Given the description of an element on the screen output the (x, y) to click on. 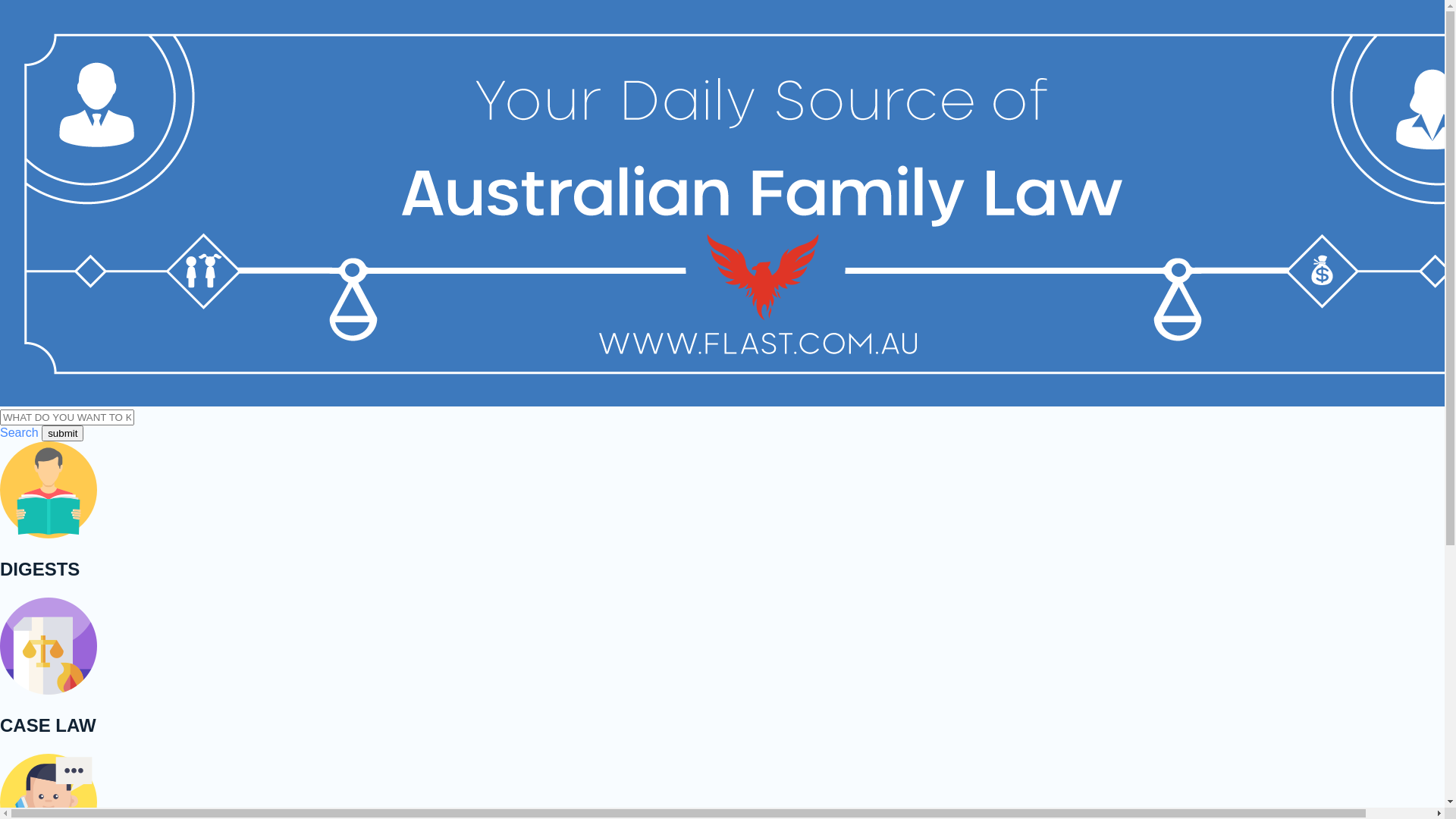
DIGESTS Element type: text (722, 510)
Search Element type: text (19, 432)
submit Element type: text (62, 433)
CASE LAW Element type: text (722, 666)
